Given the description of an element on the screen output the (x, y) to click on. 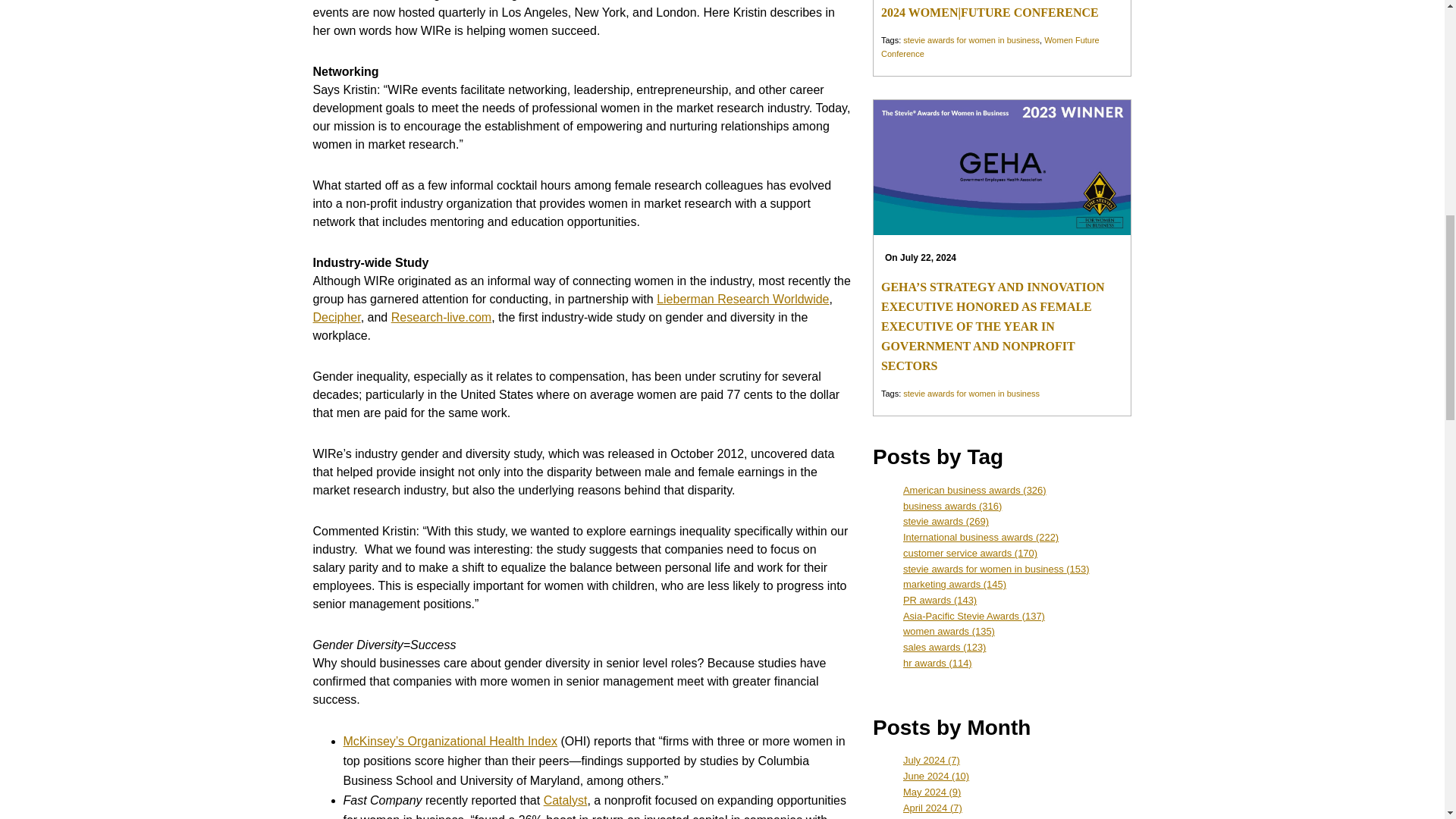
Lieberman Research Worldwide (742, 298)
Research-live.com (441, 317)
Catalyst (565, 799)
Decipher (336, 317)
